Given the description of an element on the screen output the (x, y) to click on. 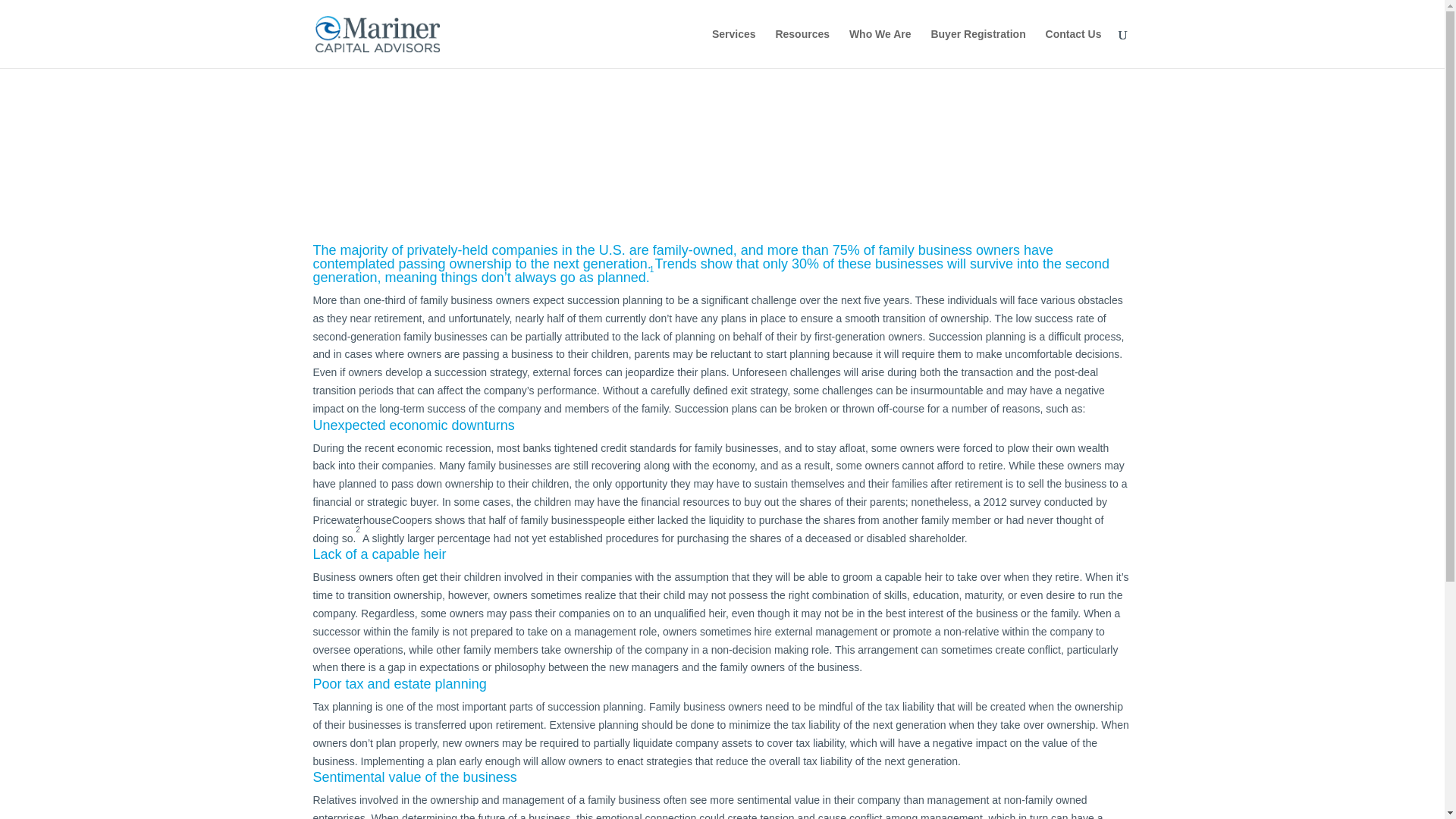
Services (733, 47)
Buyer Registration (977, 47)
Contact Us (1073, 47)
Who We Are (879, 47)
Resources (801, 47)
